Given the description of an element on the screen output the (x, y) to click on. 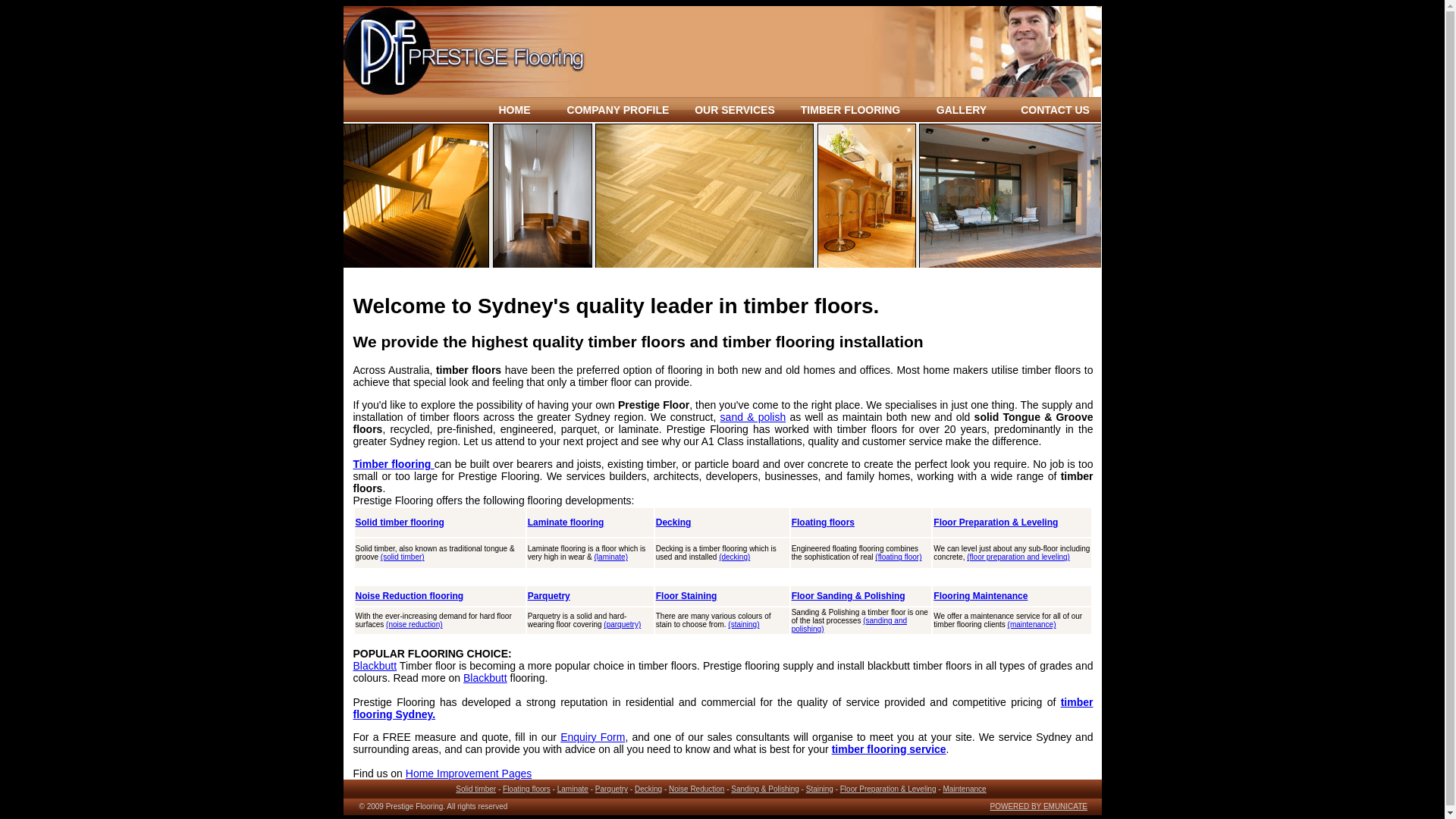
(sanding and polishing) Element type: text (848, 624)
Solid timber Element type: text (475, 788)
(staining) Element type: text (743, 624)
timber flooring Sydney. Element type: text (723, 708)
(noise reduction) Element type: text (413, 624)
COMPANY PROFILE Element type: text (618, 109)
Solid timber flooring Element type: text (398, 522)
Laminate Element type: text (572, 788)
Floor Preparation & Leveling Element type: text (995, 522)
POWERED BY EMUNICATE Element type: text (1039, 806)
Flooring Maintenance Element type: text (980, 595)
TIMBER FLOORING Element type: text (850, 109)
Decking Element type: text (673, 522)
Blackbutt Element type: text (432, 671)
(solid timber) Element type: text (402, 556)
Blackbutt Element type: text (485, 677)
Maintenance Element type: text (963, 788)
Floor Staining Element type: text (686, 595)
timber flooring service Element type: text (888, 749)
(floating floor) Element type: text (898, 556)
sand & polish Element type: text (753, 417)
Noise Reduction flooring Element type: text (408, 595)
Laminate flooring Element type: text (565, 522)
(parquetry) Element type: text (621, 624)
(floor preparation and leveling) Element type: text (1018, 556)
Parquetry Element type: text (548, 595)
Home Improvement Pages Element type: text (468, 773)
Parquetry Element type: text (611, 788)
Floor Sanding & Polishing Element type: text (848, 595)
(laminate) Element type: text (610, 556)
Floating floors Element type: text (526, 788)
OUR SERVICES Element type: text (734, 109)
Sanding & Polishing Element type: text (765, 788)
Noise Reduction Element type: text (696, 788)
(decking) Element type: text (733, 556)
HOME Element type: text (514, 109)
Staining Element type: text (819, 788)
Enquiry Form Element type: text (592, 737)
Timber flooring Element type: text (393, 464)
Floating floors Element type: text (822, 522)
Decking Element type: text (648, 788)
CONTACT US Element type: text (1054, 109)
GALLERY Element type: text (961, 109)
(maintenance) Element type: text (1031, 624)
Floor Preparation & Leveling Element type: text (888, 788)
